Given the description of an element on the screen output the (x, y) to click on. 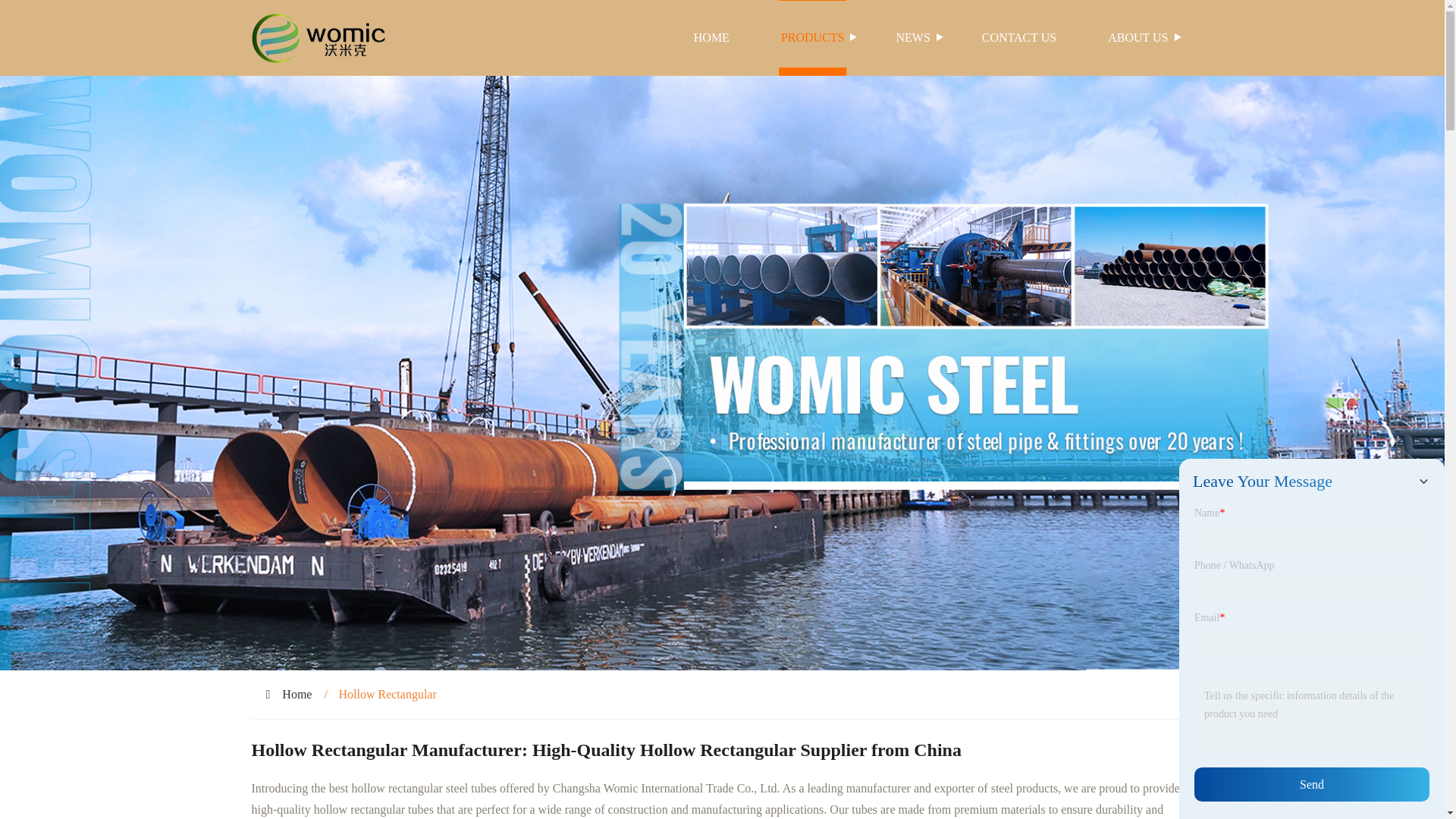
PRODUCTS (812, 38)
Home (296, 694)
CONTACT US (1018, 38)
